Given the description of an element on the screen output the (x, y) to click on. 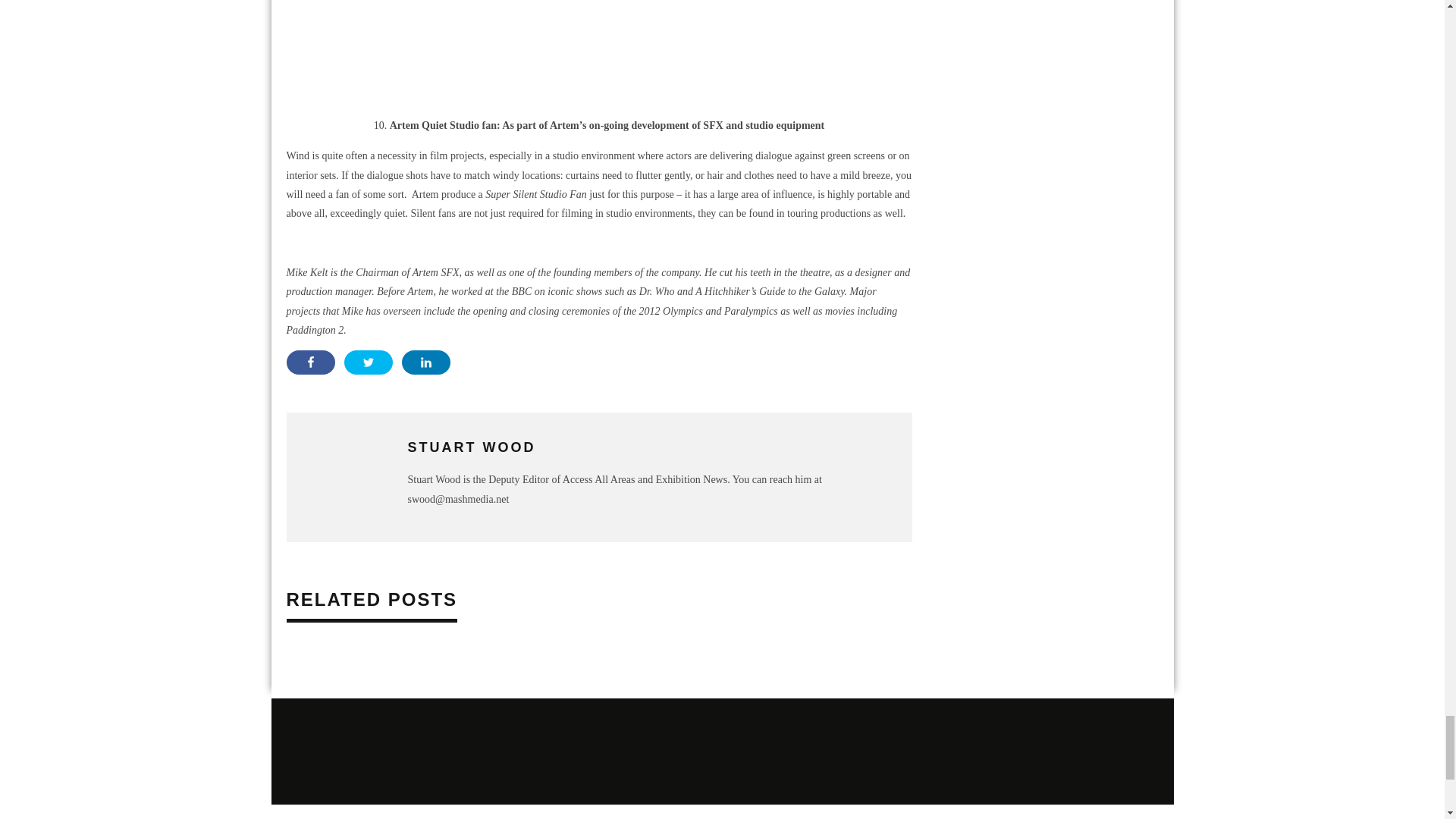
Share on Twitter (368, 362)
Share on LinkedIn (425, 362)
Share on Facebook (310, 362)
